Given the description of an element on the screen output the (x, y) to click on. 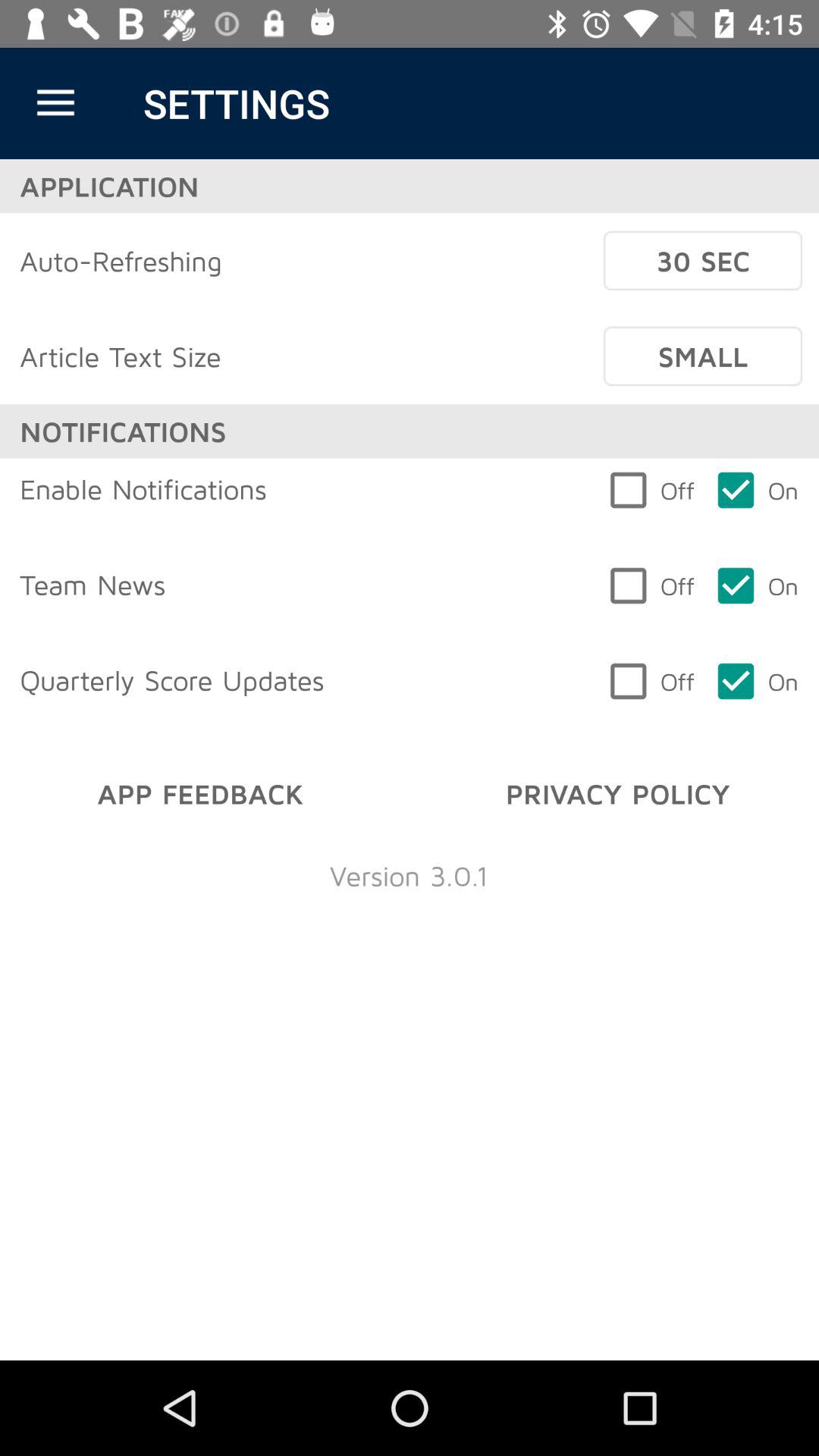
press the item above application icon (55, 103)
